Given the description of an element on the screen output the (x, y) to click on. 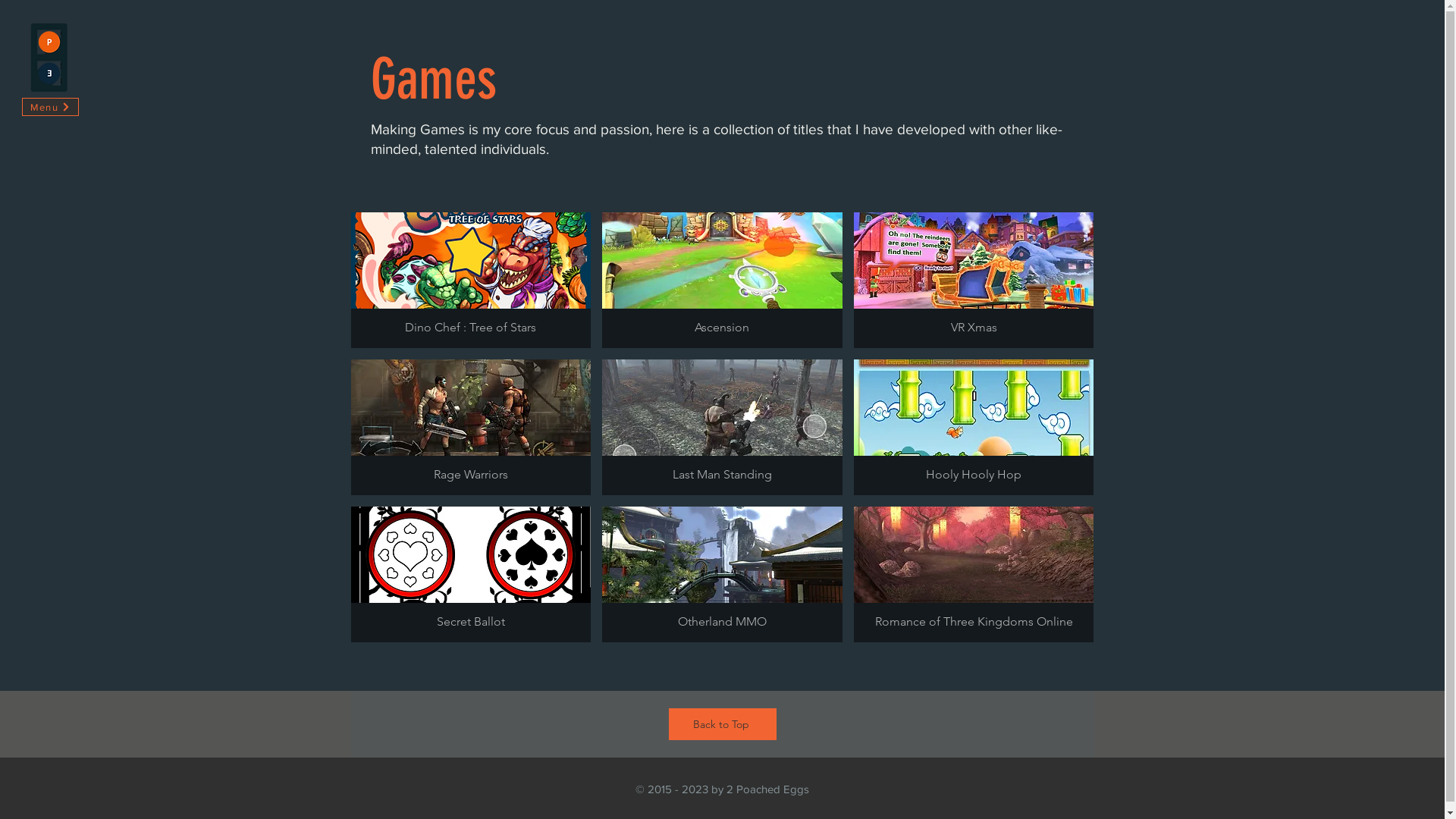
Dino Chef : Tree of Stars Element type: text (470, 280)
Secret Ballot Element type: text (470, 574)
Hooly Hooly Hop Element type: text (973, 427)
VR Xmas Element type: text (973, 280)
Romance of Three Kingdoms Online Element type: text (973, 574)
Otherland MMO Element type: text (722, 574)
Last Man Standing Element type: text (722, 427)
Back to Top Element type: text (722, 724)
Ascension Element type: text (722, 280)
Rage Warriors Element type: text (470, 427)
Menu Element type: text (49, 106)
Menu Element type: hover (48, 57)
